Given the description of an element on the screen output the (x, y) to click on. 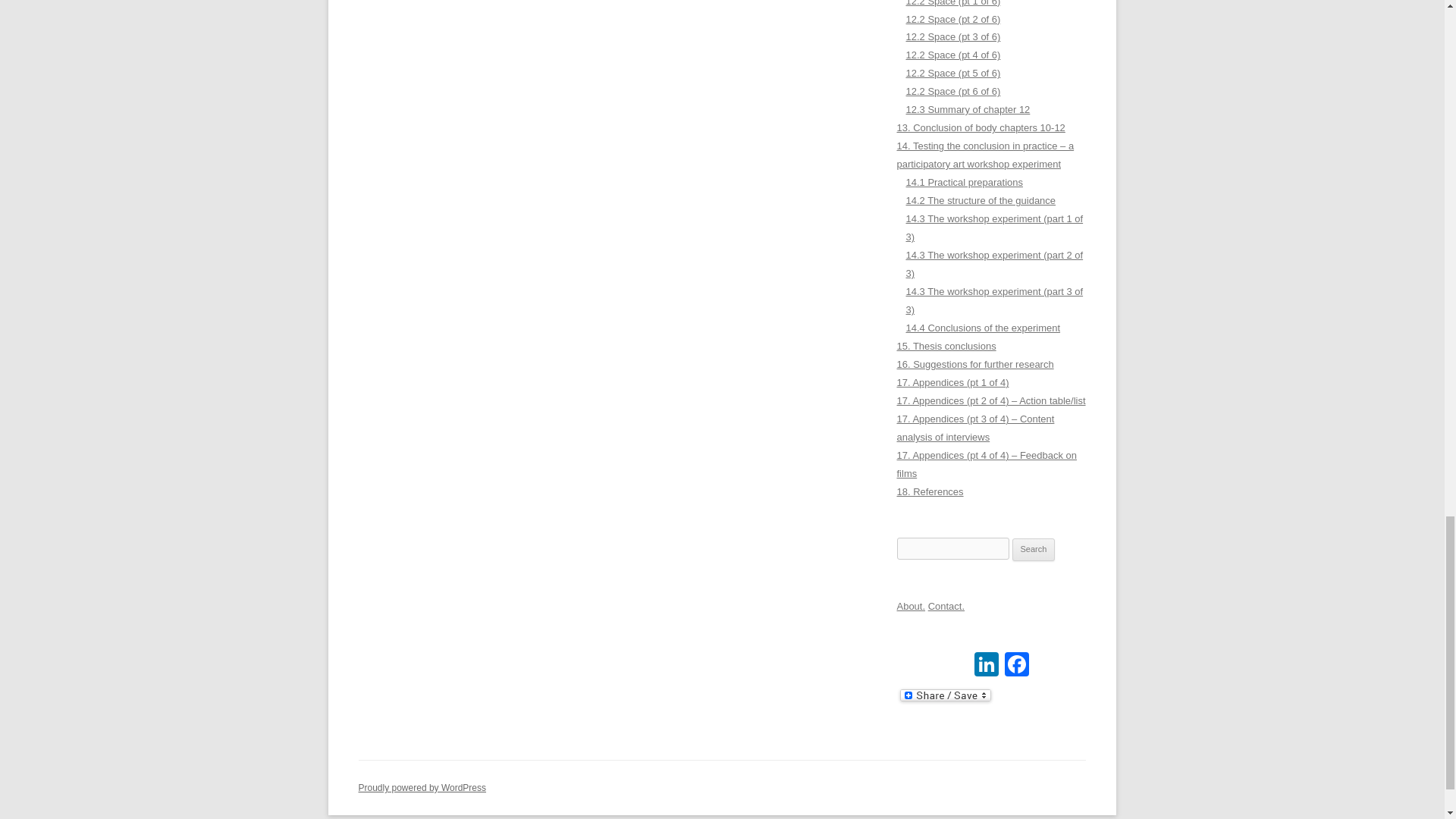
LinkedIn (986, 665)
Contact (945, 605)
About (910, 605)
Facebook (1015, 665)
Semantic Personal Publishing Platform (422, 787)
Search (1033, 549)
